Given the description of an element on the screen output the (x, y) to click on. 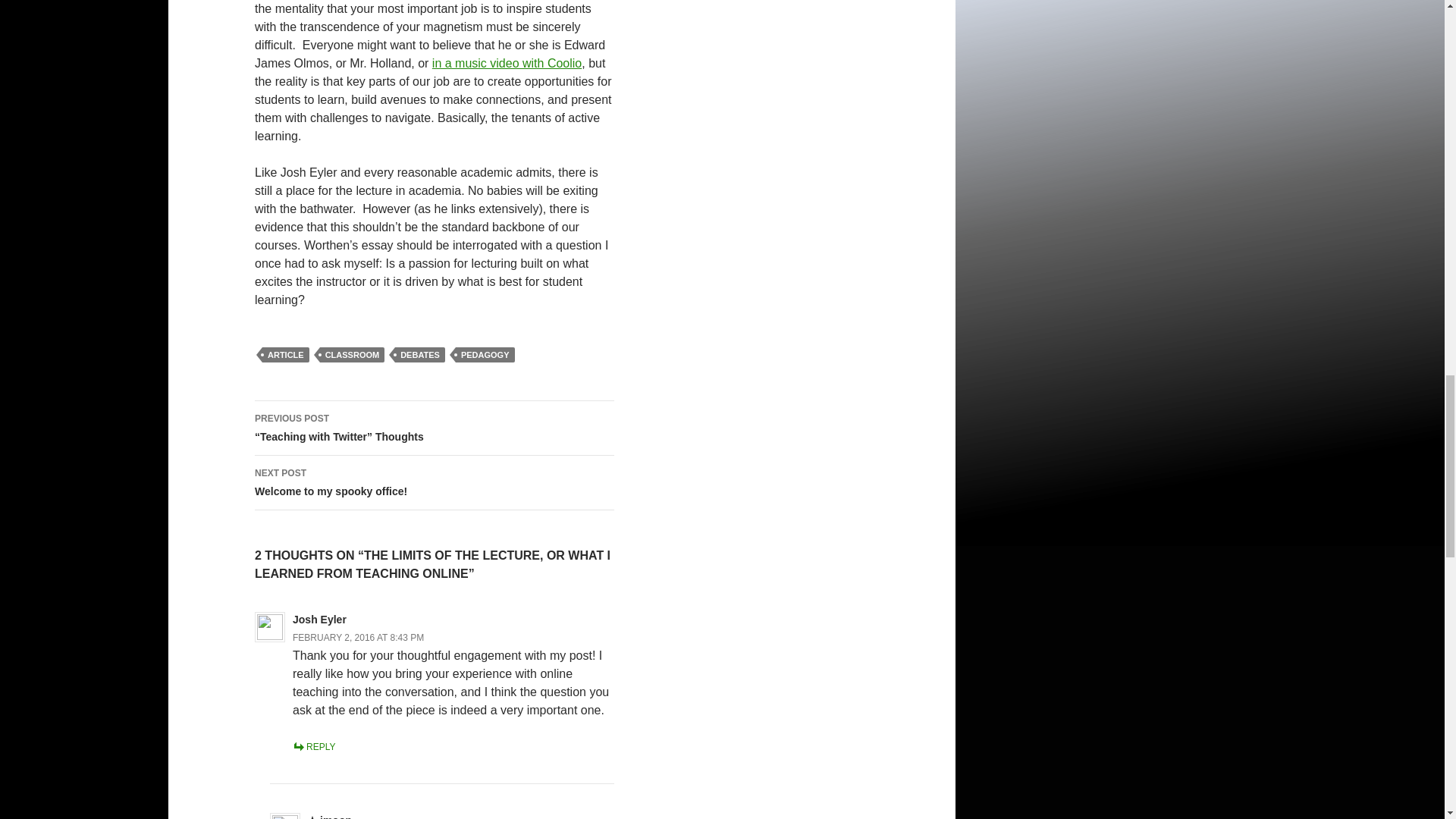
ARTICLE (285, 354)
REPLY (313, 747)
Josh Eyler (319, 619)
CLASSROOM (352, 354)
PEDAGOGY (434, 482)
DEBATES (485, 354)
in a music video with Coolio (419, 354)
FEBRUARY 2, 2016 AT 8:43 PM (506, 62)
